Given the description of an element on the screen output the (x, y) to click on. 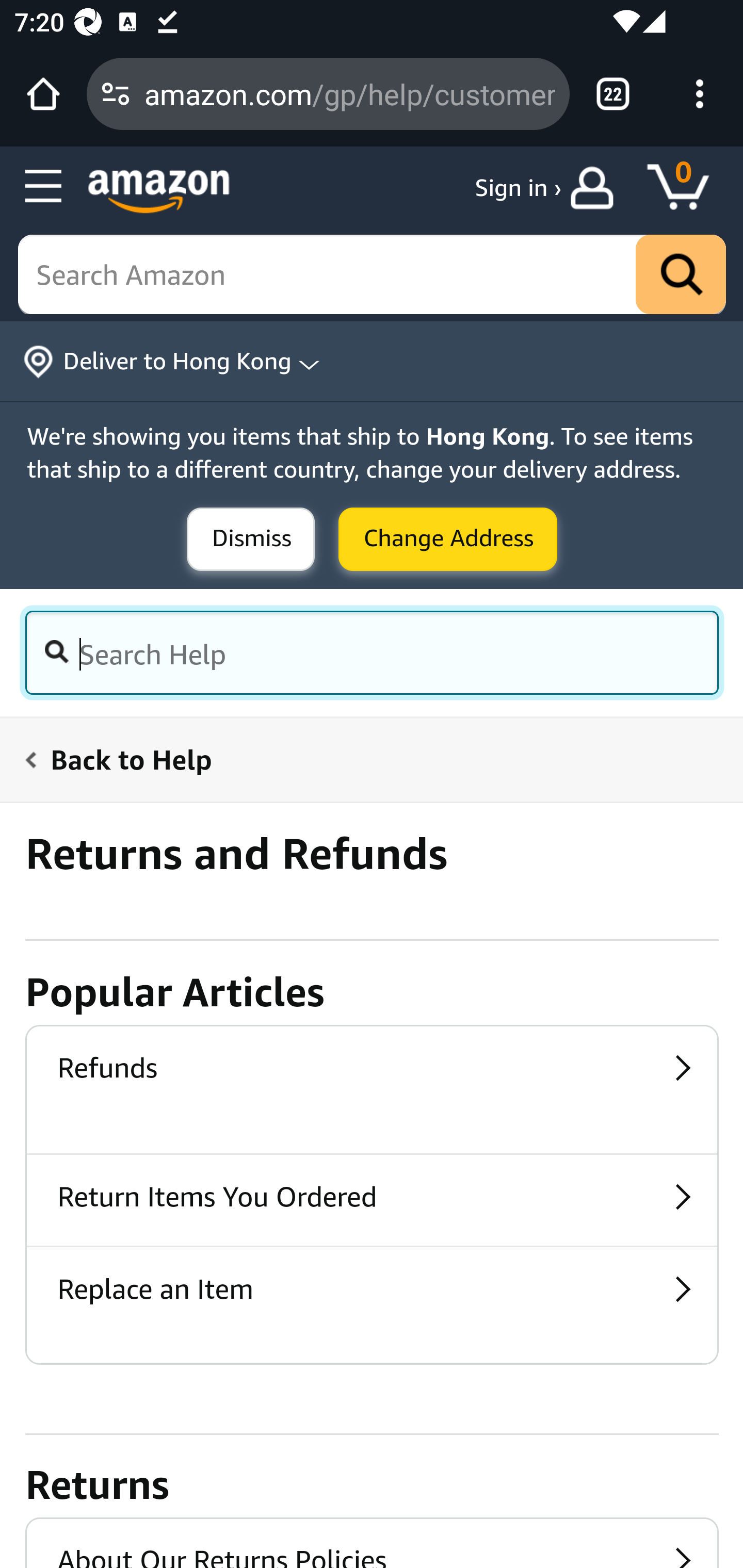
Open the home page (43, 93)
Connection is secure (115, 93)
Switch or close tabs (612, 93)
Customize and control Google Chrome (699, 93)
Open Menu (44, 187)
Sign in › (518, 188)
your account (596, 188)
Cart 0 (687, 188)
Amazon (158, 191)
Go (681, 275)
Submit (250, 539)
Submit (447, 539)
Back to Help (359, 758)
Refunds (371, 1070)
Return Items You Ordered (371, 1200)
Replace an Item (371, 1291)
